Given the description of an element on the screen output the (x, y) to click on. 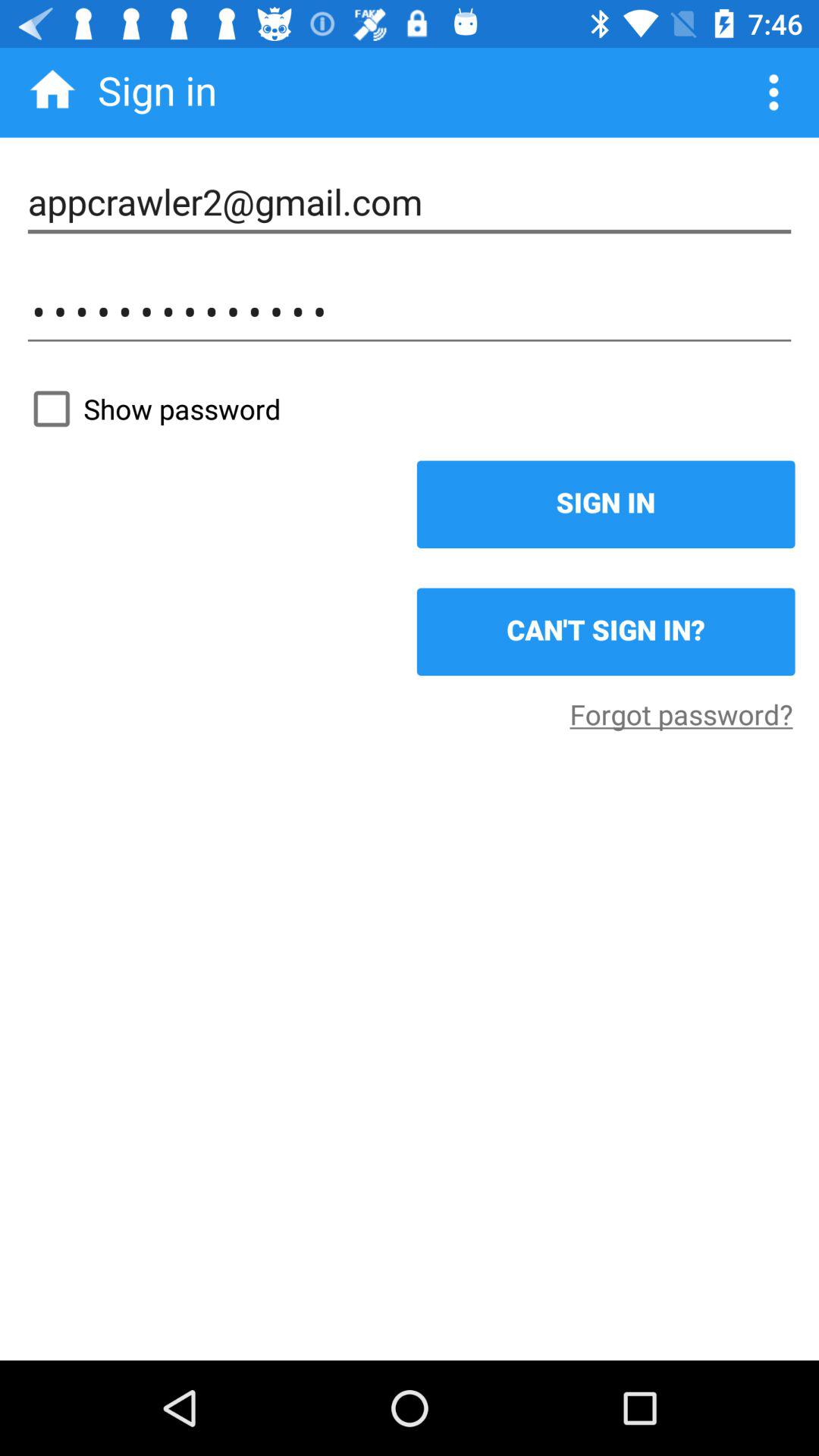
select the icon above forgot password? (605, 631)
